Given the description of an element on the screen output the (x, y) to click on. 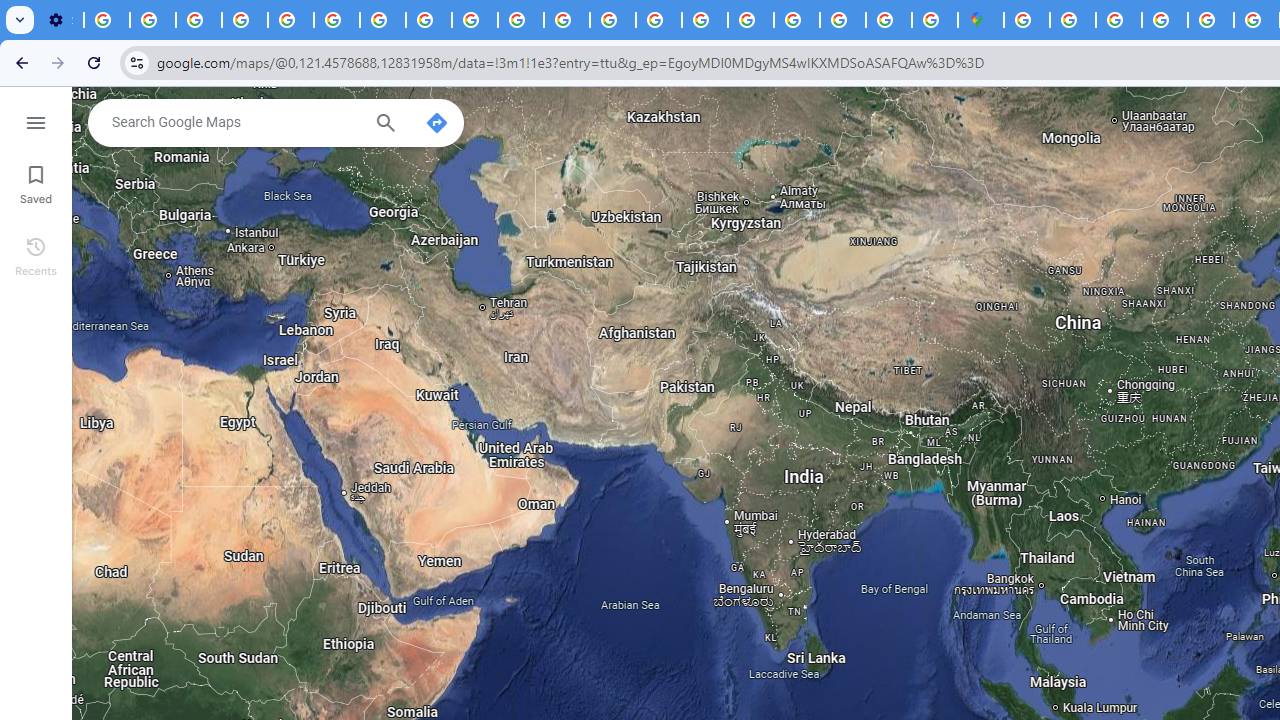
Sign in - Google Accounts (797, 20)
Search Google Maps (235, 121)
Sign in - Google Accounts (1026, 20)
Menu (35, 120)
Learn how to find your photos - Google Photos Help (153, 20)
Privacy Checkup (520, 20)
https://scholar.google.com/ (567, 20)
